Given the description of an element on the screen output the (x, y) to click on. 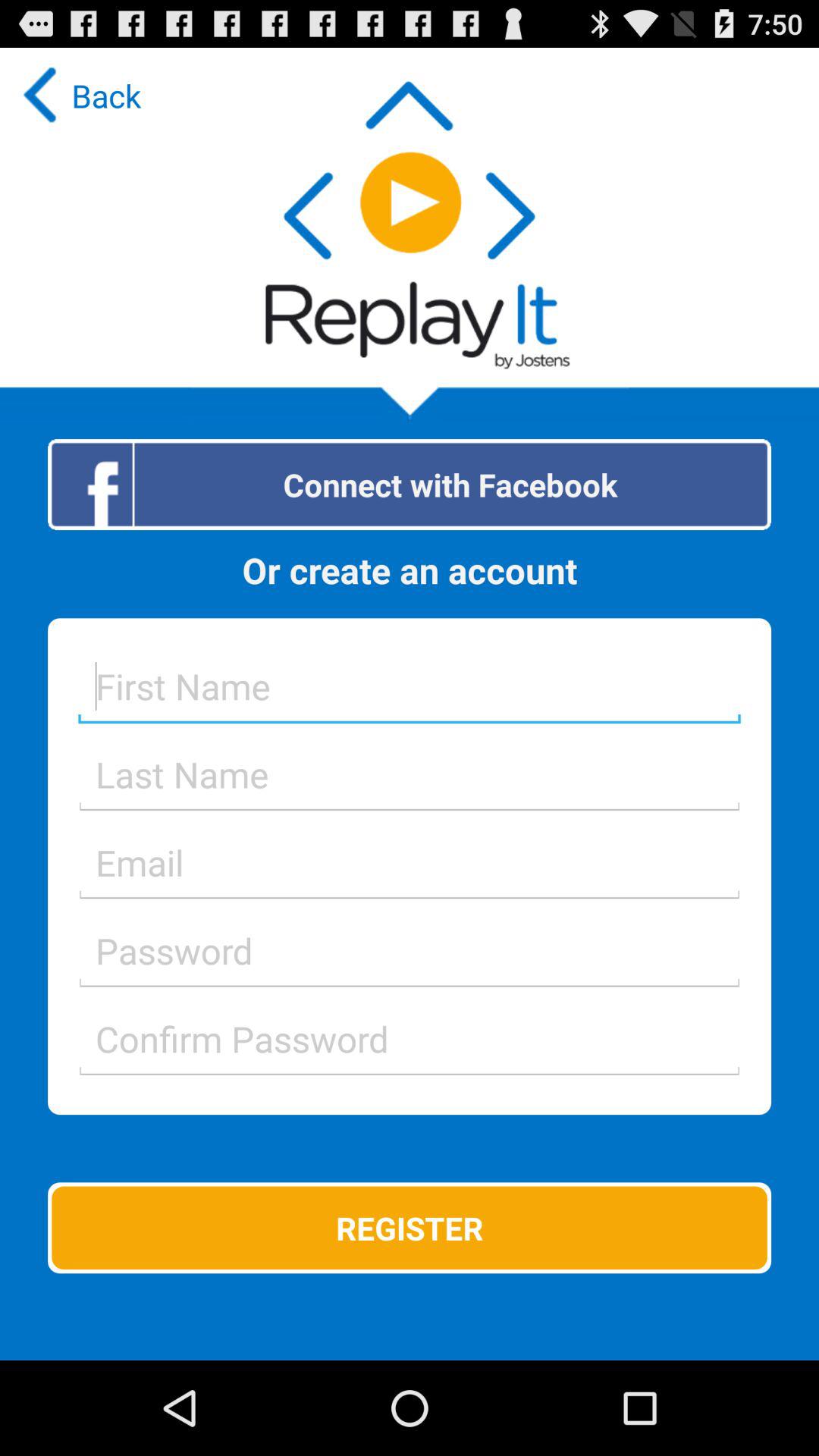
type password again (409, 1038)
